Given the description of an element on the screen output the (x, y) to click on. 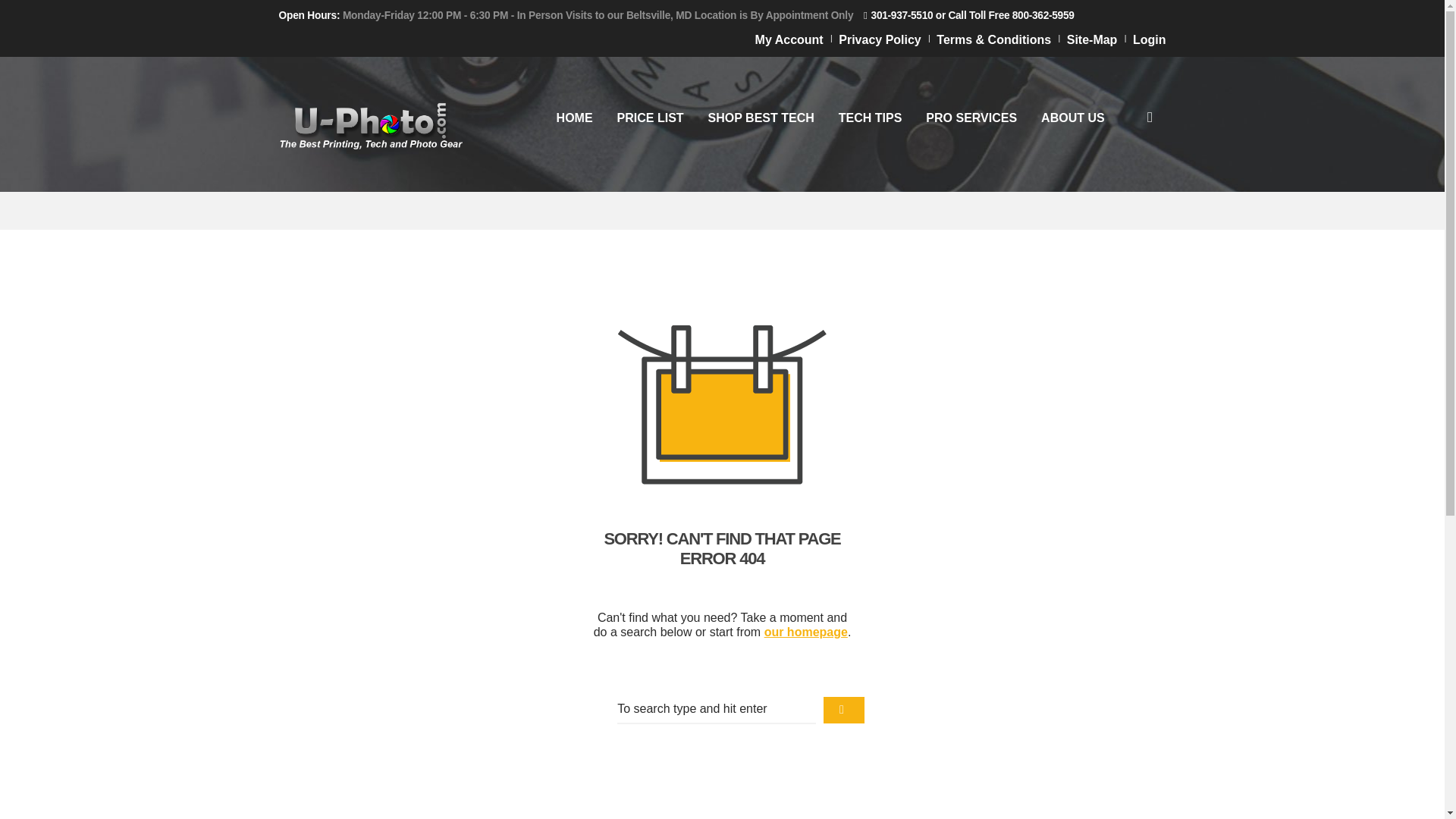
PRICE LIST (650, 117)
Start search (844, 709)
Login (1149, 39)
My Account (789, 39)
Site-Map (1092, 39)
SHOP BEST TECH (761, 117)
TECH TIPS (870, 117)
HOME (574, 117)
Open search (1149, 116)
ABOUT US (1072, 117)
